Given the description of an element on the screen output the (x, y) to click on. 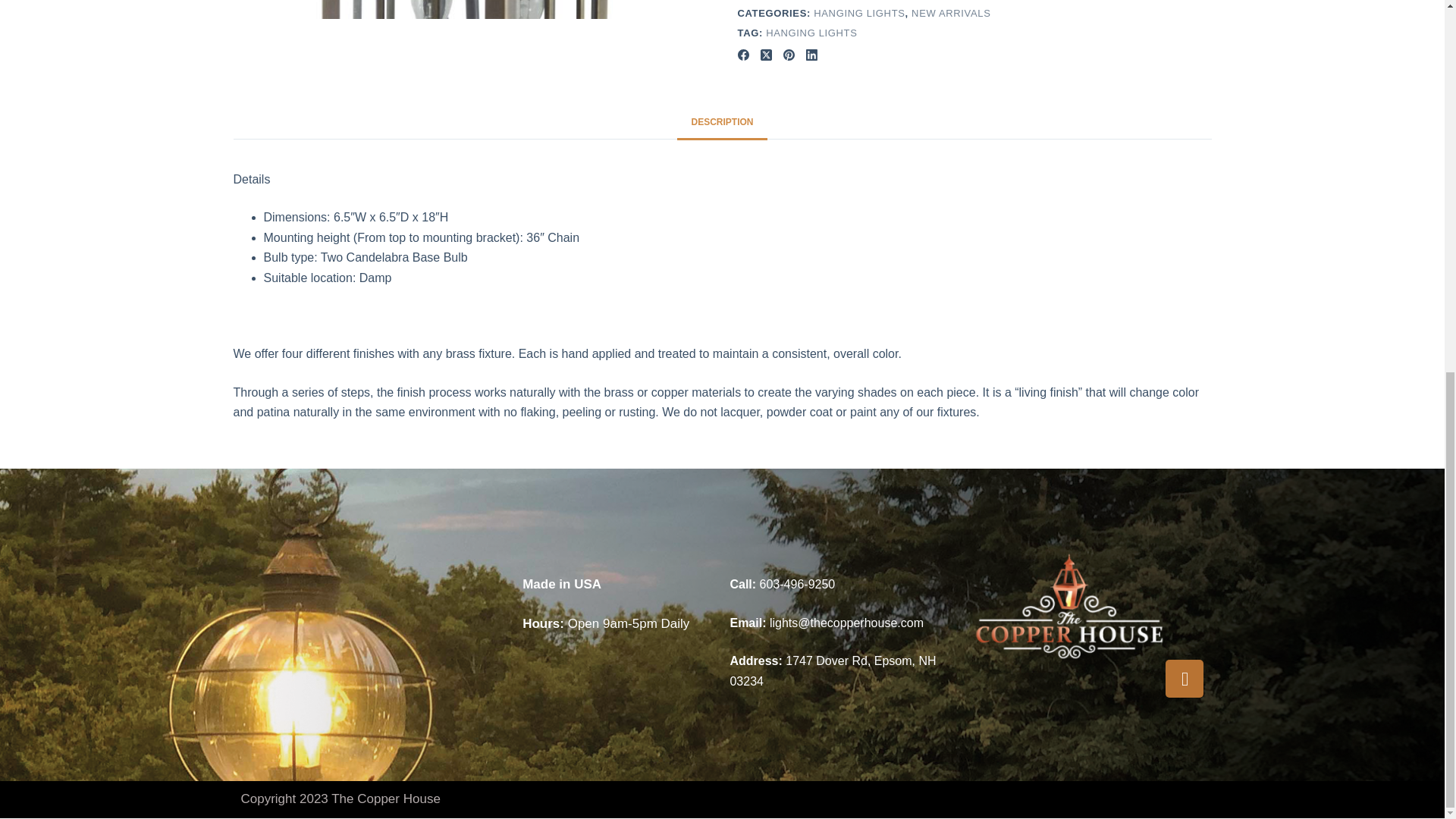
11732-LT2-Nottingham (469, 9)
